Given the description of an element on the screen output the (x, y) to click on. 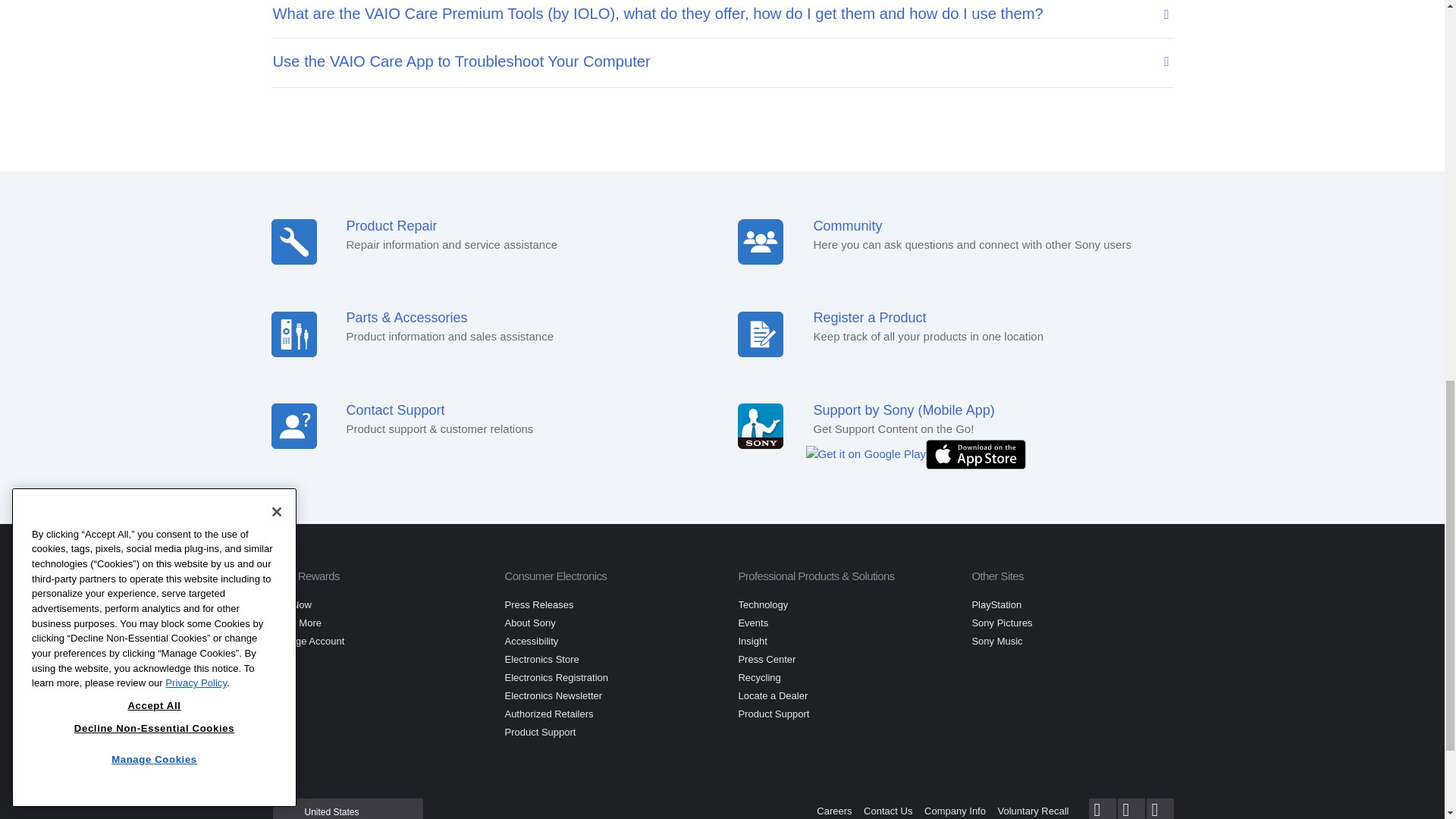
Join Now (290, 604)
Electronics Registration (555, 677)
Learn More (295, 622)
Manage Account (307, 641)
Join Now (290, 604)
Press Releases (538, 604)
Electronics Newsletter (552, 695)
Electronics Store (540, 659)
Use the VAIO Care App to Troubleshoot Your Computer (712, 60)
Learn More (295, 622)
About Sony (528, 622)
Accessibility (530, 641)
